Given the description of an element on the screen output the (x, y) to click on. 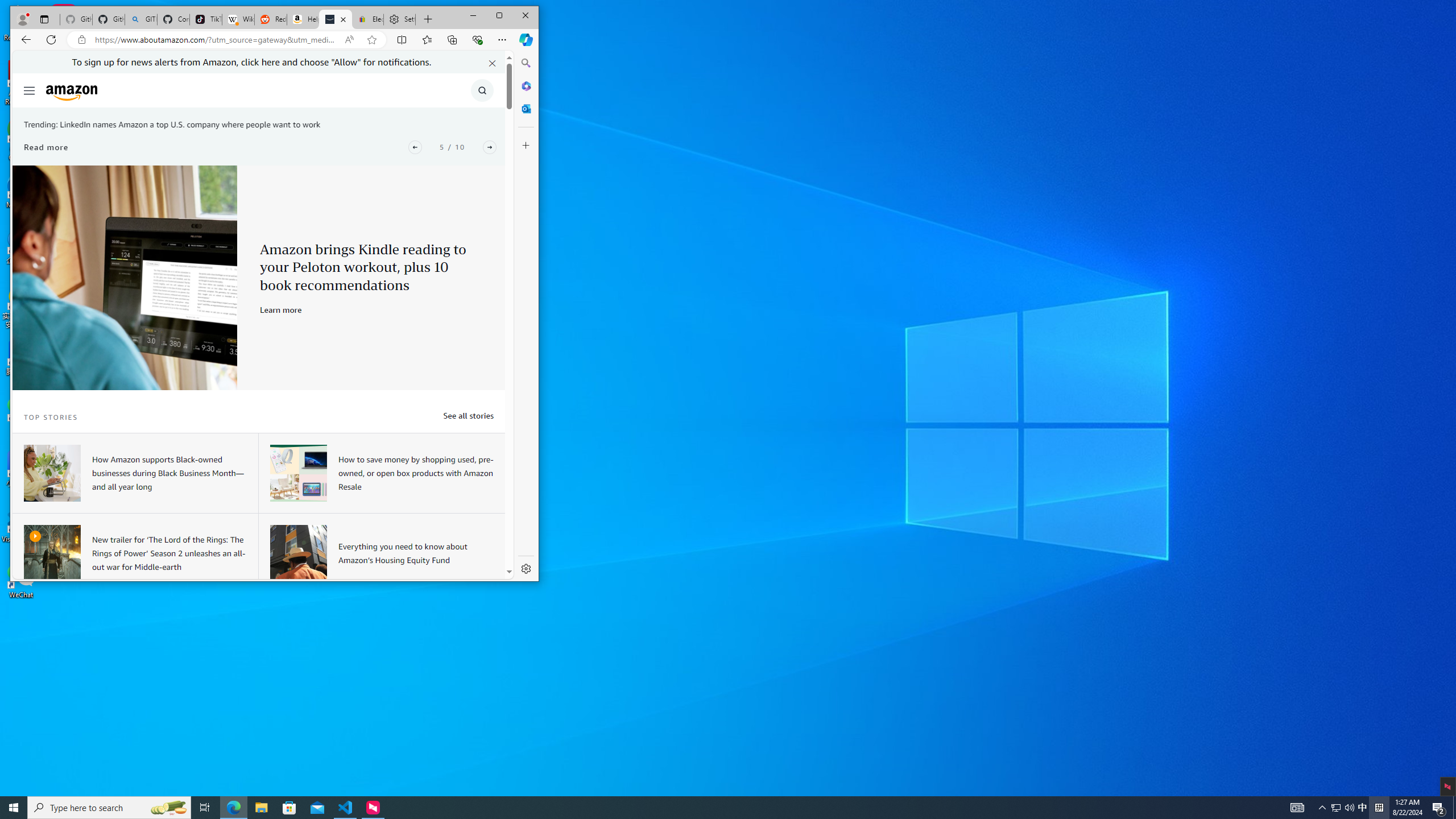
Start (13, 807)
Previous (414, 146)
File Explorer (261, 807)
Visual Studio Code - 1 running window (345, 807)
Show desktop (1454, 807)
